Given the description of an element on the screen output the (x, y) to click on. 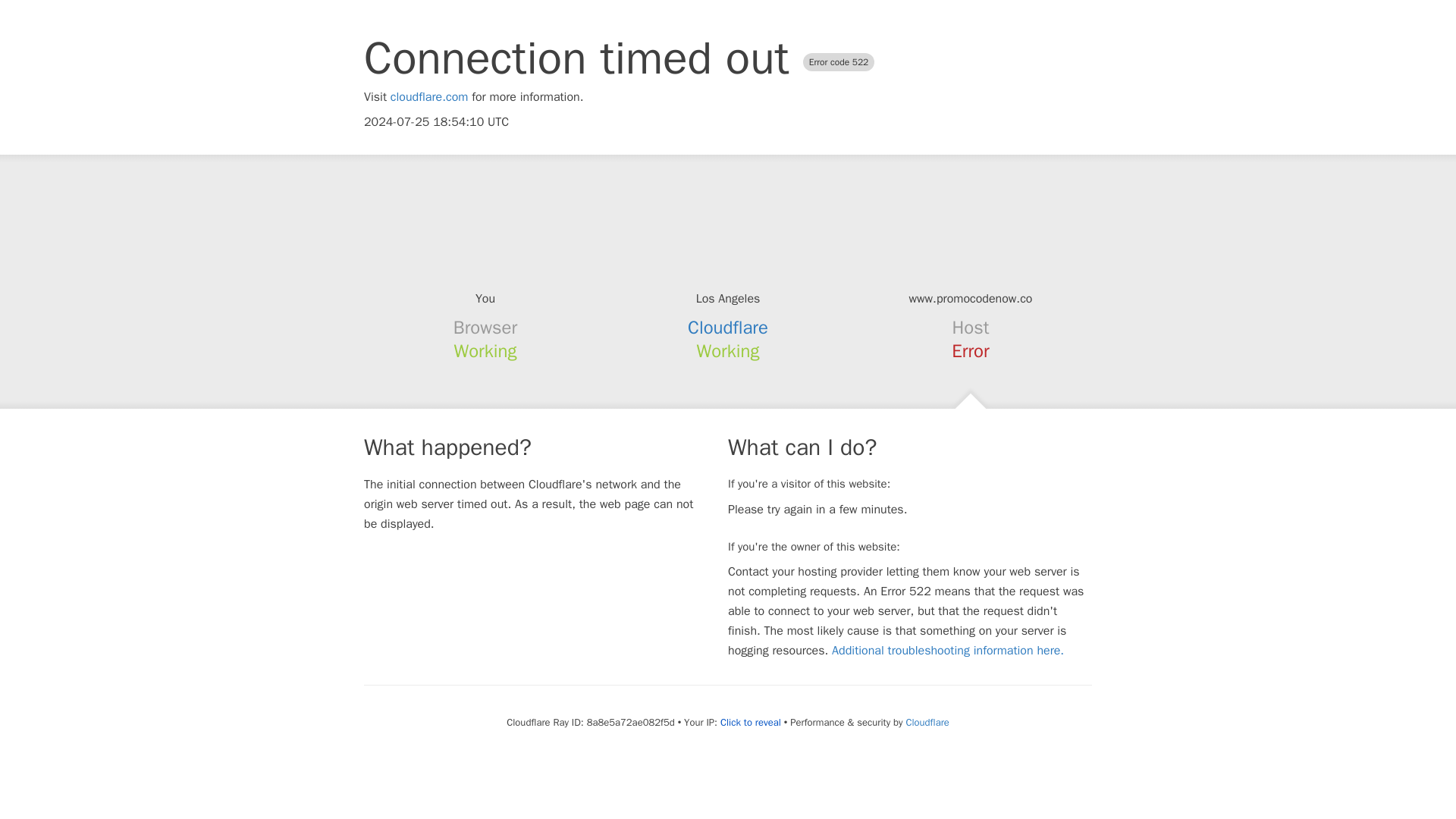
Cloudflare (927, 721)
Click to reveal (750, 722)
Additional troubleshooting information here. (947, 650)
cloudflare.com (429, 96)
Cloudflare (727, 327)
